Given the description of an element on the screen output the (x, y) to click on. 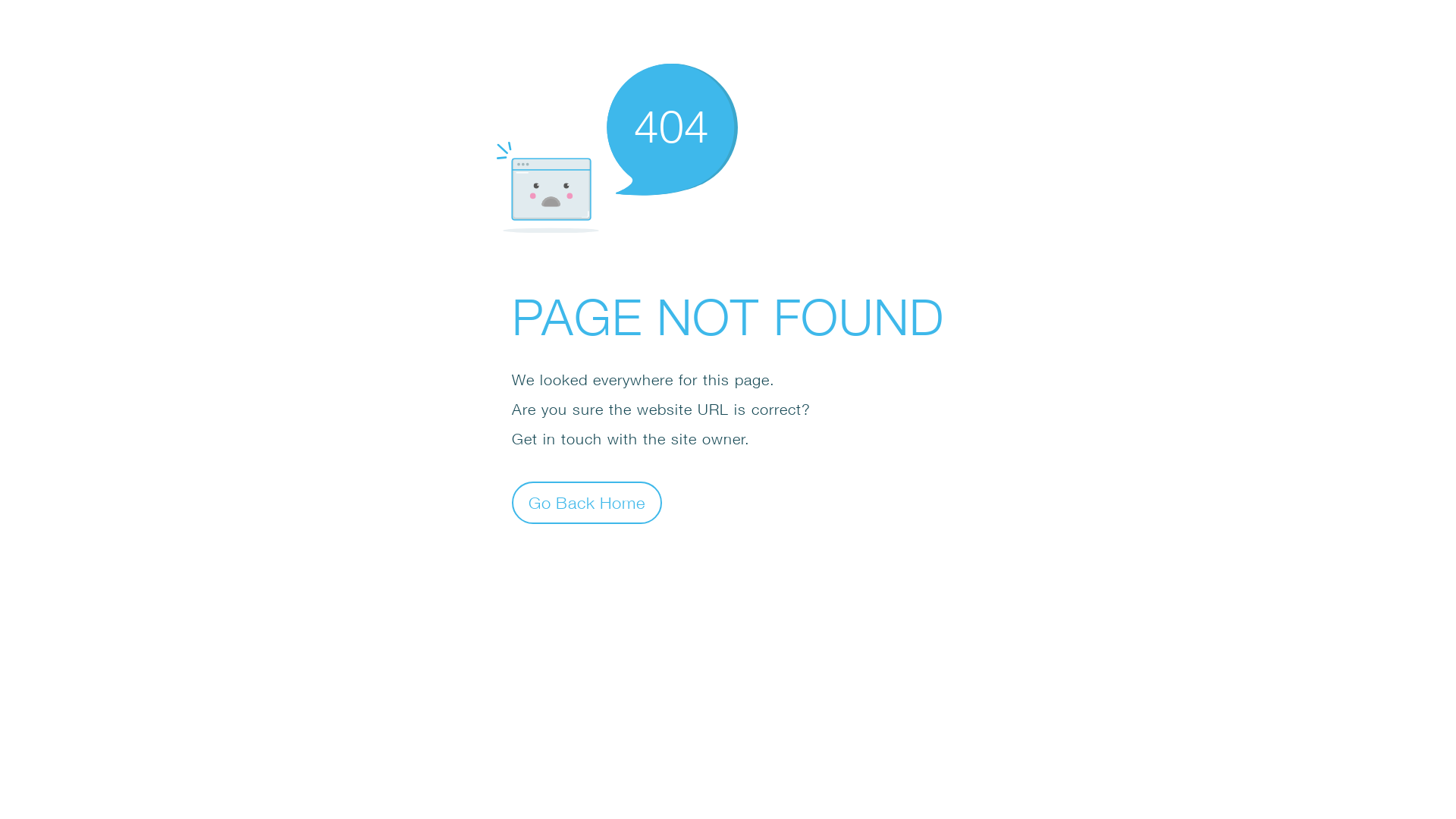
Go Back Home Element type: text (586, 502)
